Given the description of an element on the screen output the (x, y) to click on. 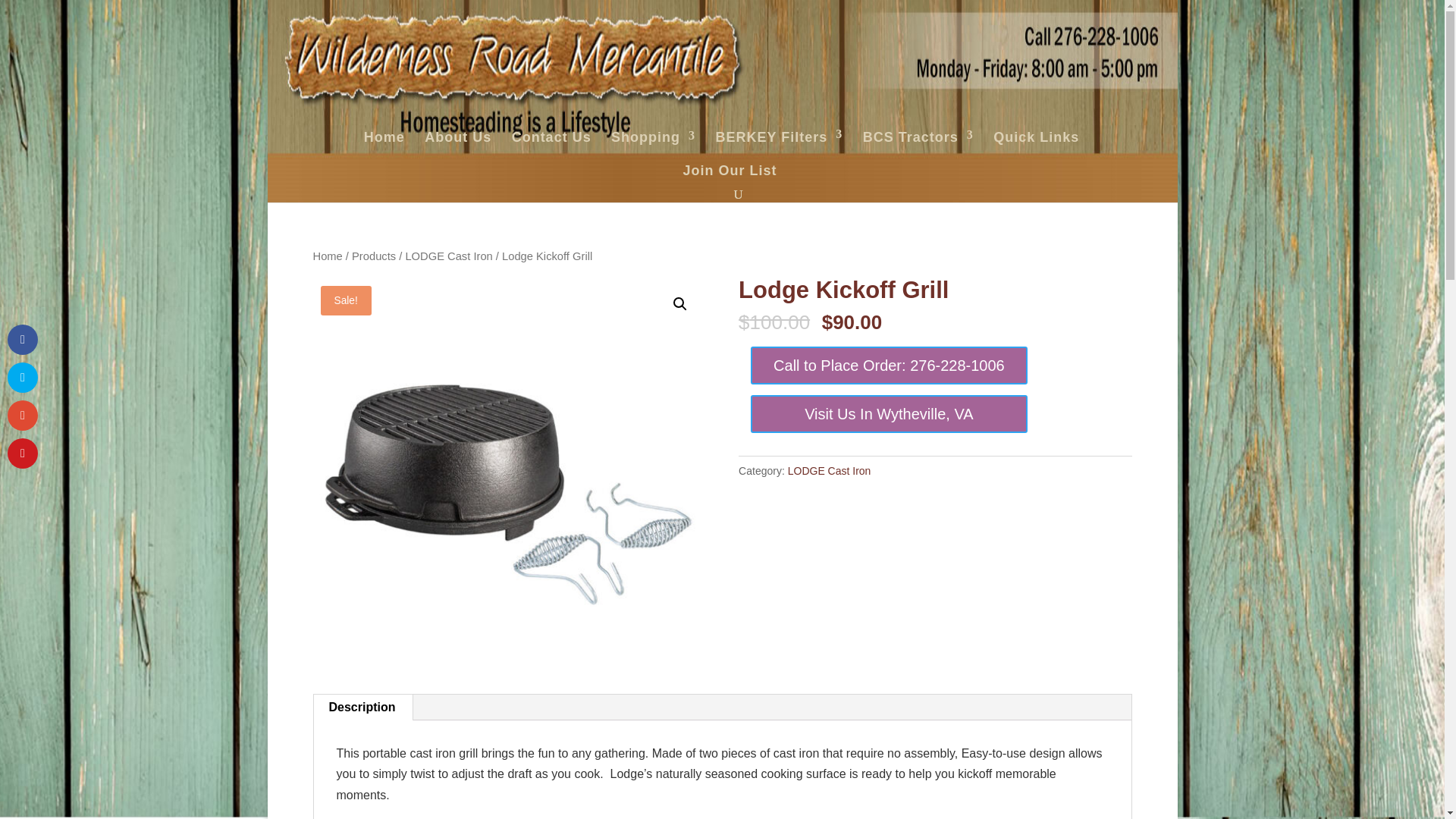
Quick Links (1035, 137)
Join Our List (729, 170)
LODGE Cast Iron (828, 470)
Call to Place Order: 276-228-1006 (889, 365)
About Us (458, 137)
Products (374, 256)
Shopping (653, 136)
Home (327, 256)
BERKEY Filters (779, 137)
LODGE Cast Iron (448, 256)
Contact Us (551, 137)
BCS Tractors (918, 137)
Description (362, 707)
Home (384, 137)
